Given the description of an element on the screen output the (x, y) to click on. 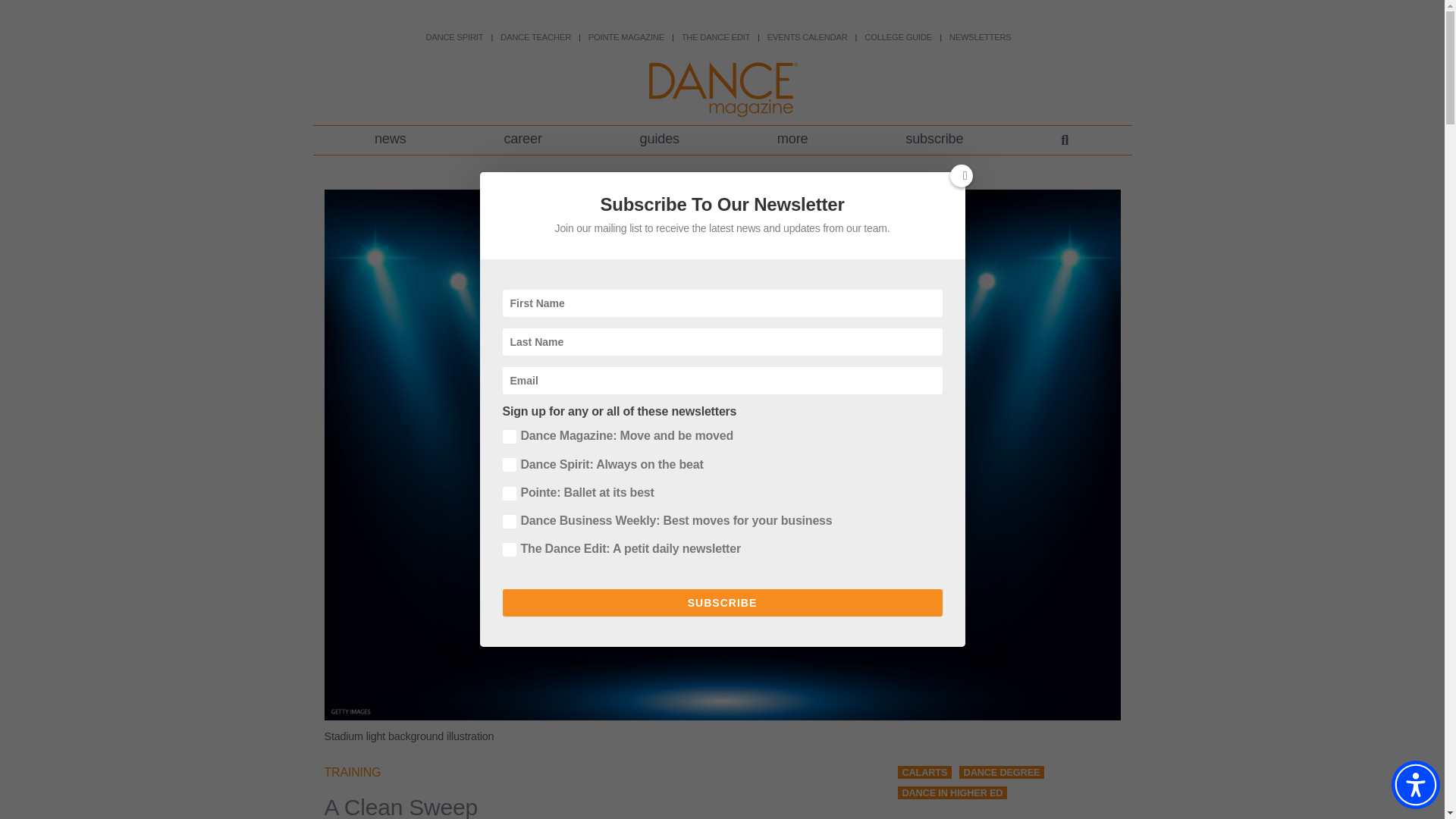
subscribe (934, 140)
EVENTS CALENDAR (807, 36)
THE DANCE EDIT (715, 36)
DANCE TEACHER (535, 36)
DANCE SPIRIT (454, 36)
news (390, 140)
guides (658, 140)
COLLEGE GUIDE (897, 36)
Accessibility Menu (1415, 784)
more (791, 140)
NEWSLETTERS (980, 36)
career (522, 140)
POINTE MAGAZINE (625, 36)
